Given the description of an element on the screen output the (x, y) to click on. 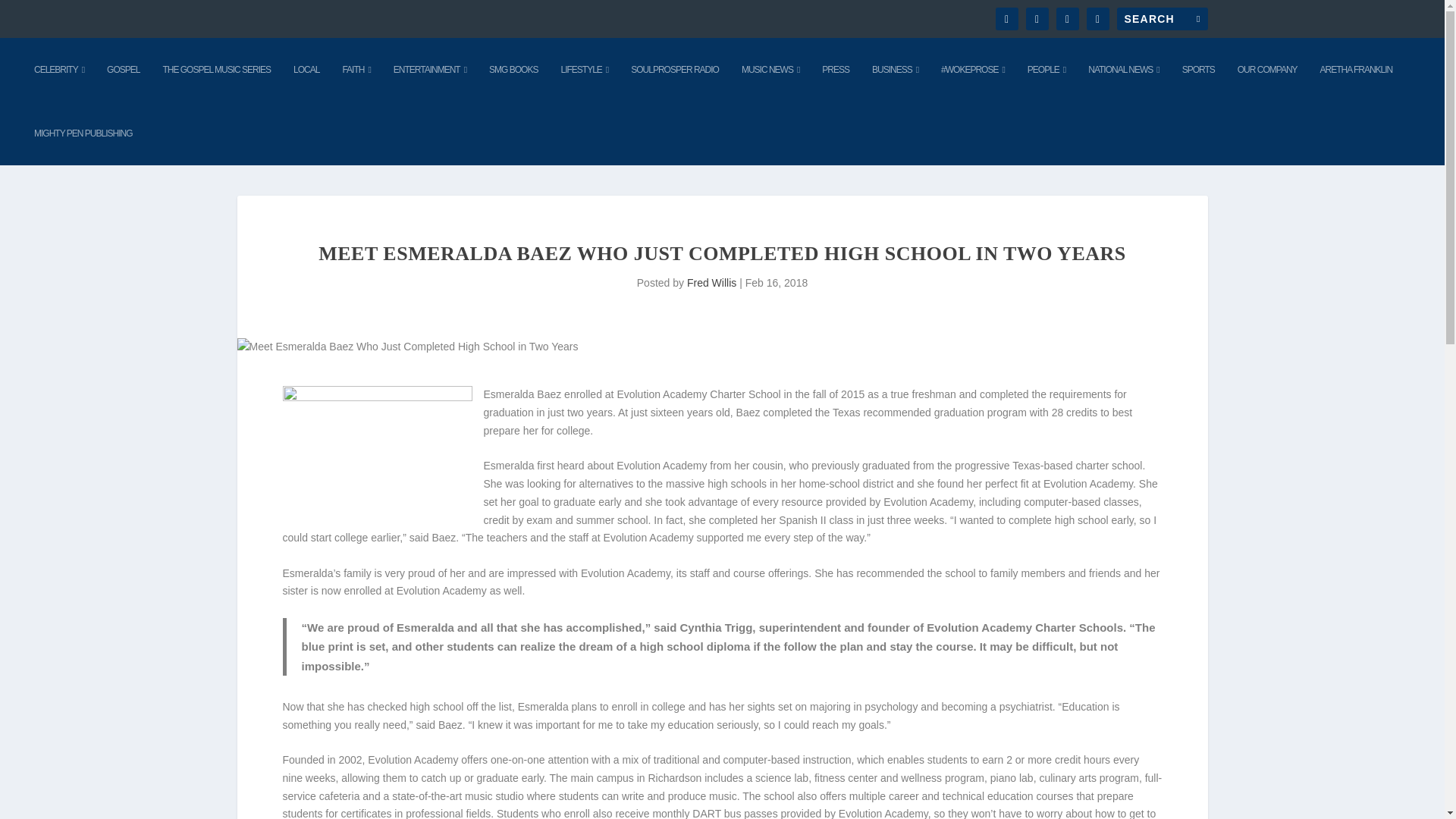
THE GOSPEL MUSIC SERIES (215, 69)
Search for: (1161, 18)
SOULPROSPER RADIO (674, 69)
MUSIC NEWS (770, 69)
ENTERTAINMENT (429, 69)
Posts by Fred Willis (711, 282)
